Given the description of an element on the screen output the (x, y) to click on. 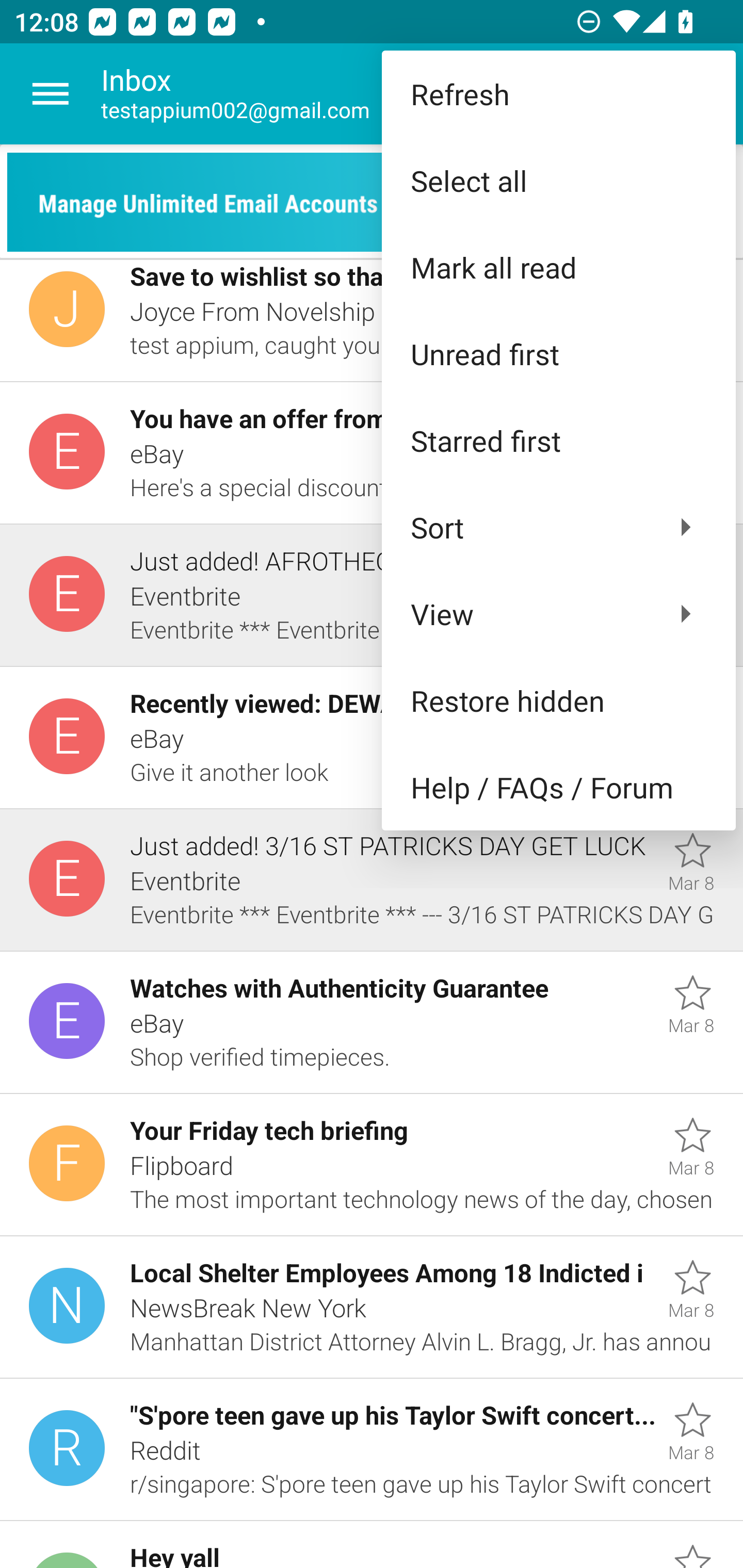
Refresh (558, 93)
Select all (558, 180)
Mark all read (558, 267)
Unread first (558, 353)
Starred first (558, 440)
Sort (558, 527)
View (558, 613)
Restore hidden (558, 699)
Help / FAQs / Forum (558, 787)
